Given the description of an element on the screen output the (x, y) to click on. 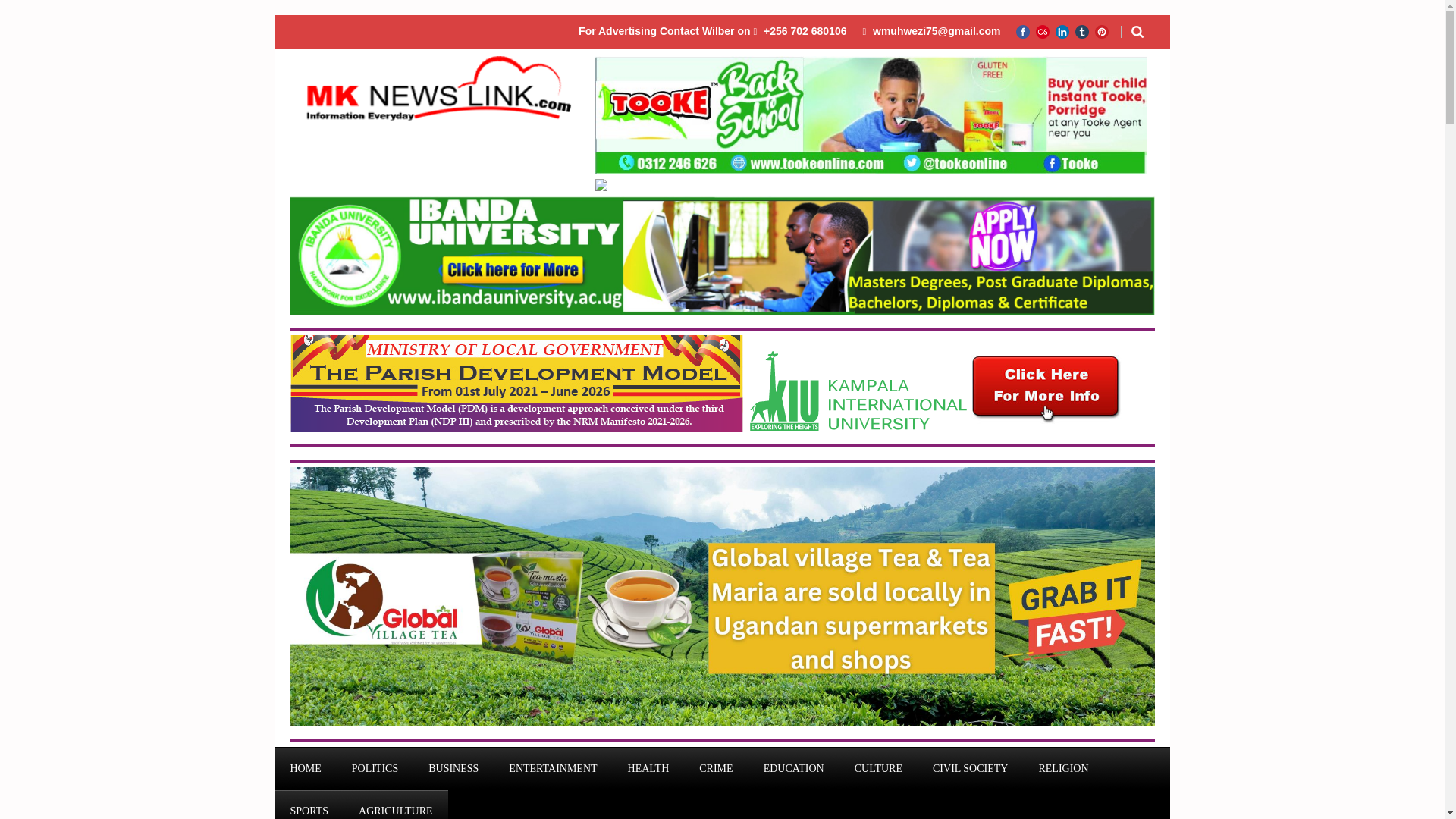
ENTERTAINMENT (552, 768)
EDUCATION (794, 768)
HOME (305, 768)
HEALTH (648, 768)
BUSINESS (453, 768)
CRIME (716, 768)
AGRICULTURE (395, 804)
SPORTS (309, 804)
RELIGION (1063, 768)
CIVIL SOCIETY (970, 768)
POLITICS (374, 768)
CULTURE (878, 768)
